Given the description of an element on the screen output the (x, y) to click on. 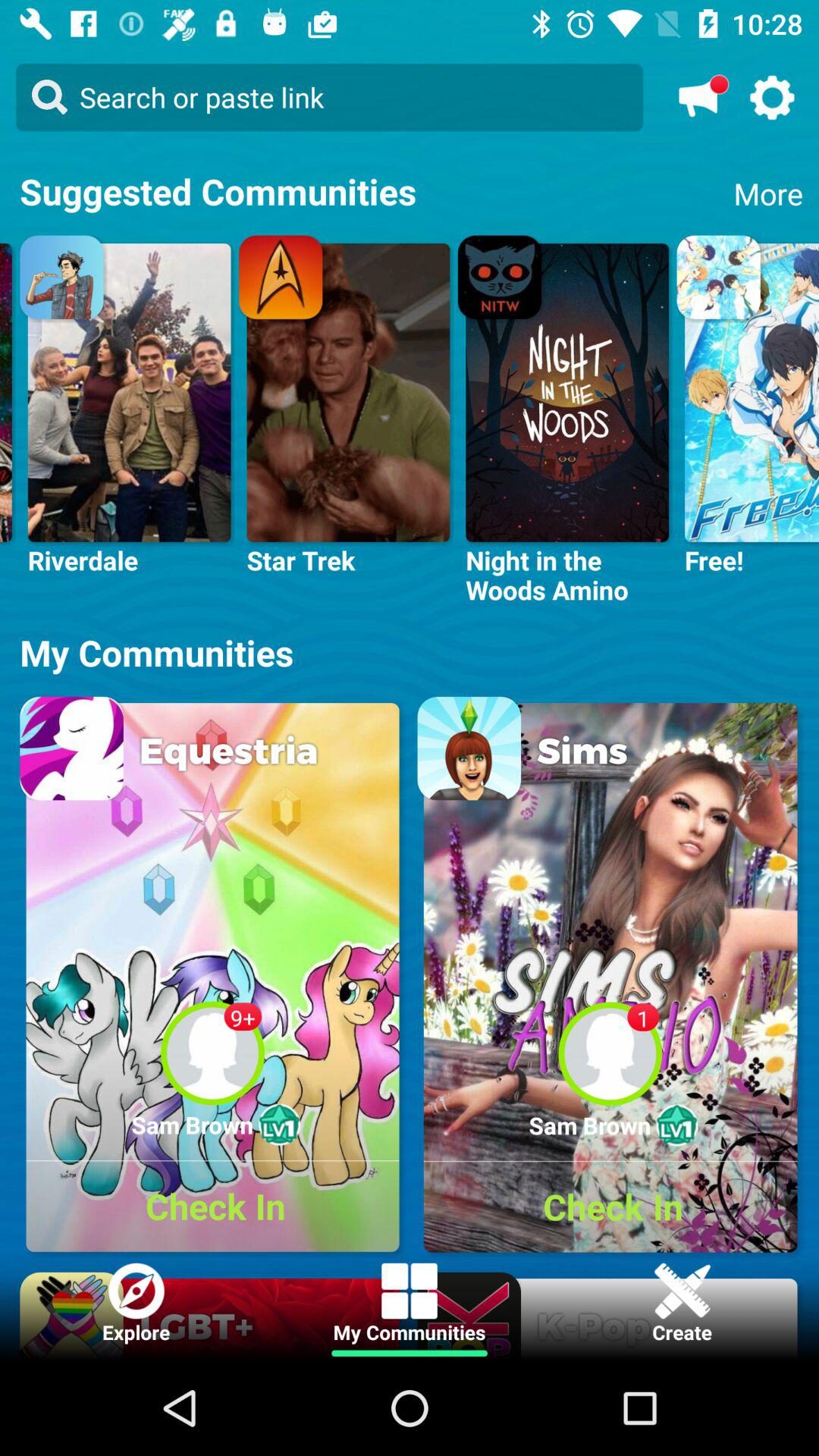
click on the text field (328, 97)
